Given the description of an element on the screen output the (x, y) to click on. 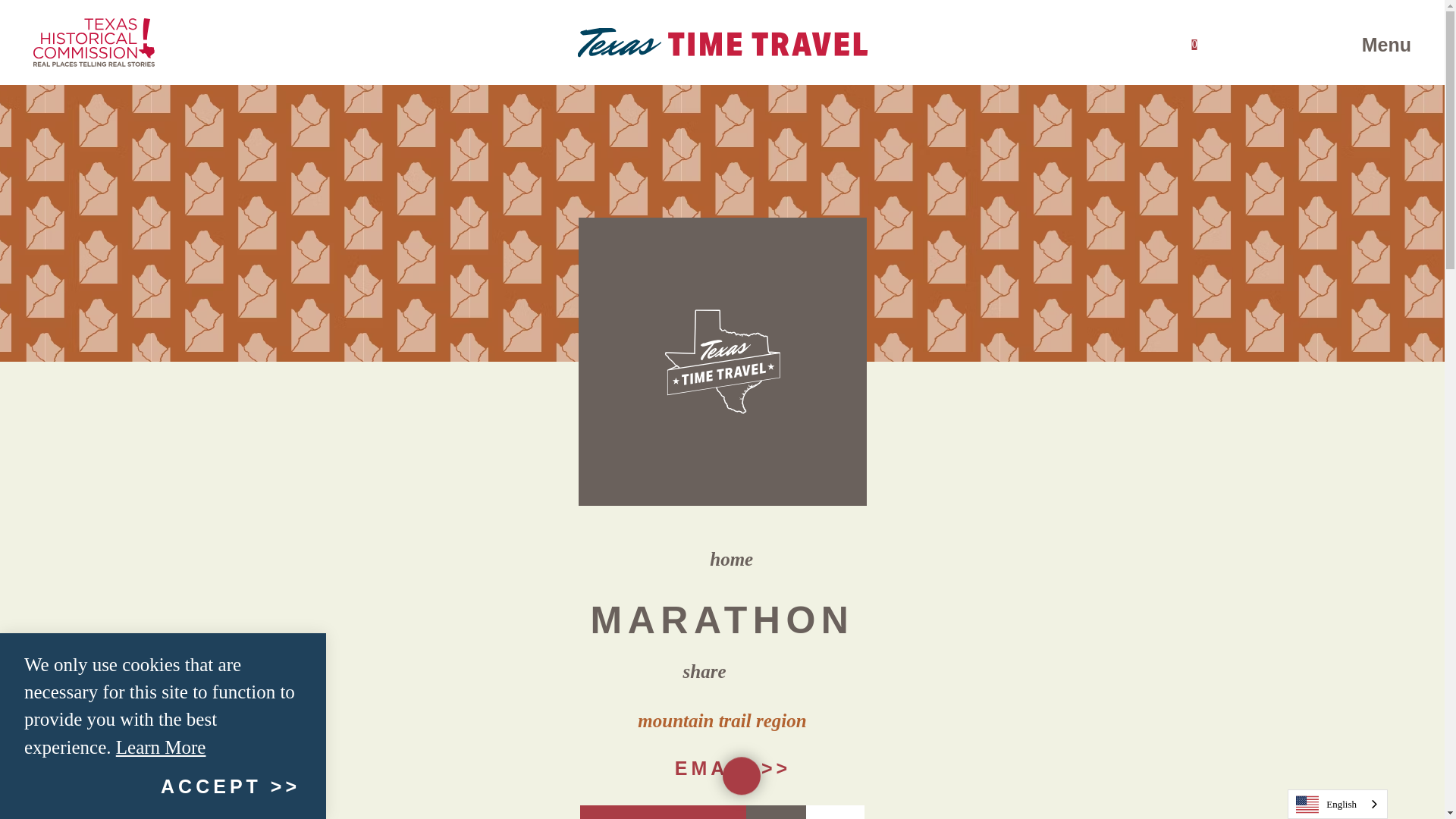
share (721, 670)
Save (775, 812)
Map (835, 812)
0 (1194, 42)
Menu (1348, 41)
EMAIL (722, 768)
home (720, 559)
WEBSITE (662, 812)
Menu (1376, 44)
Skip to content (17, 15)
